Given the description of an element on the screen output the (x, y) to click on. 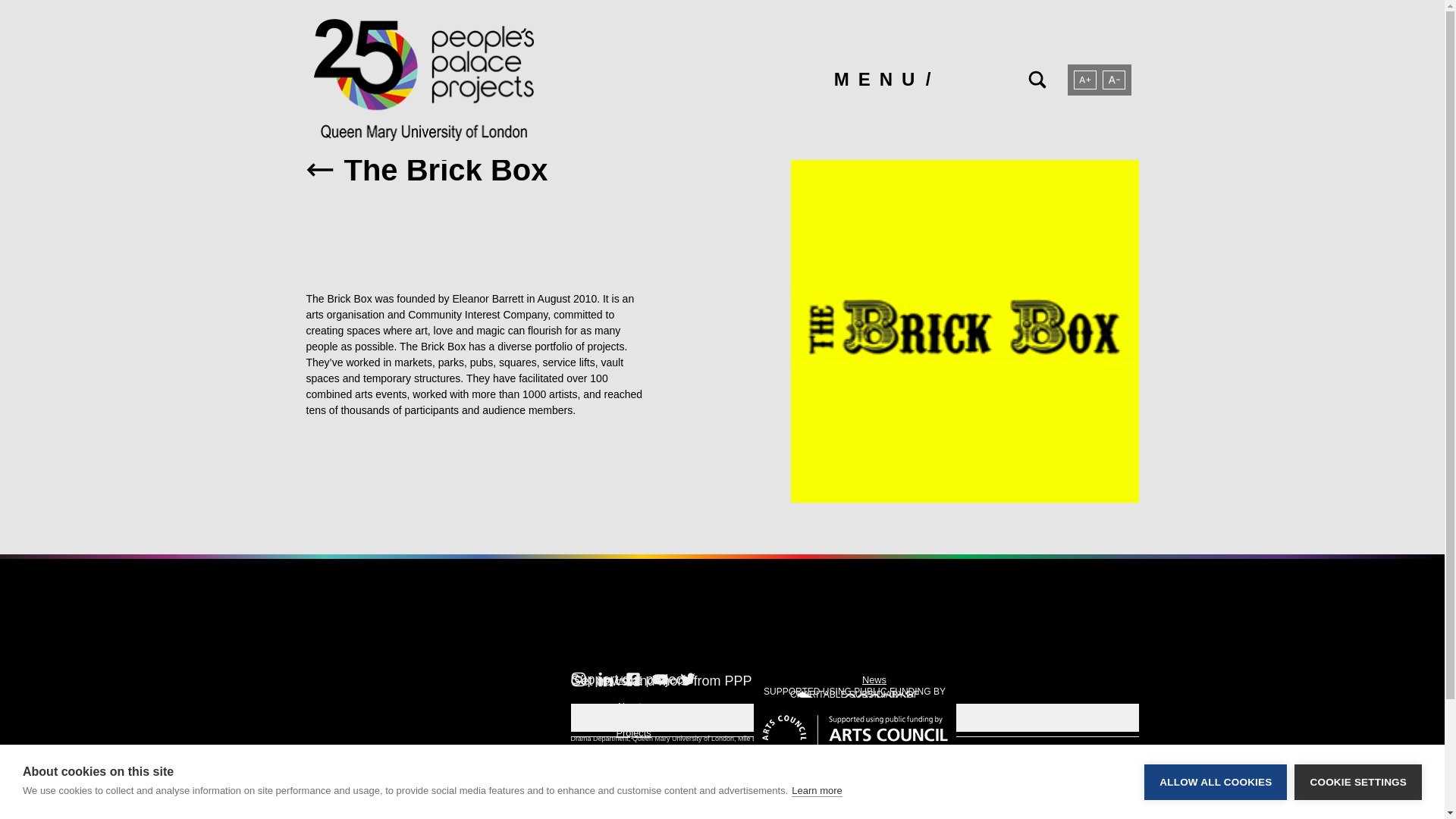
Casa Rio (635, 759)
MENU (882, 78)
News (873, 679)
Events (876, 706)
The Brick Box (479, 169)
Publications (887, 732)
Projects (632, 732)
About us (634, 706)
Home (628, 679)
Contact (878, 759)
DONATE (854, 717)
